Given the description of an element on the screen output the (x, y) to click on. 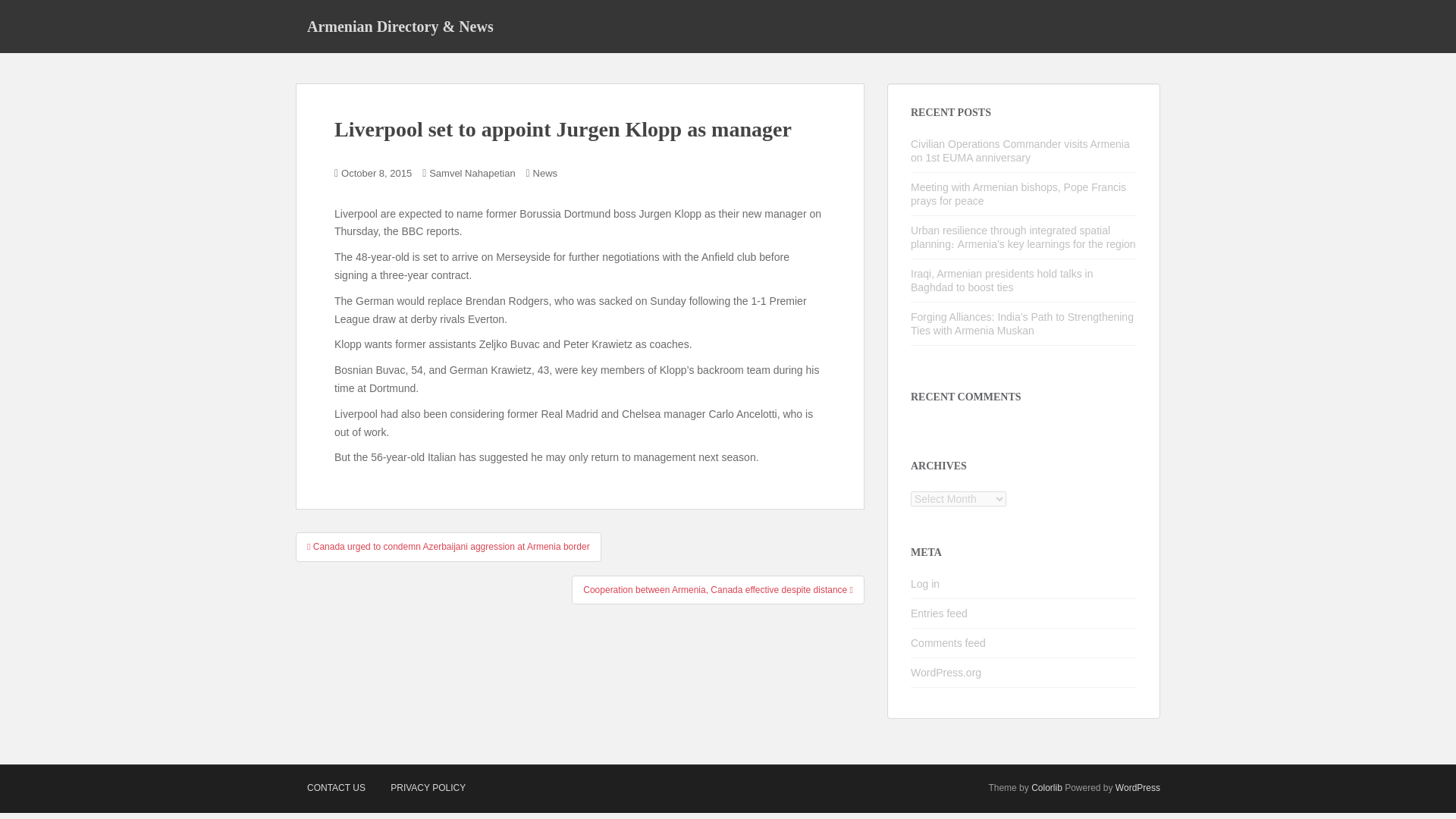
CONTACT US (336, 788)
PRIVACY POLICY (427, 788)
News (544, 173)
Colorlib (1046, 787)
Log in (925, 583)
Comments feed (948, 643)
Entries feed (939, 613)
October 8, 2015 (376, 173)
WordPress.org (946, 672)
Meeting with Armenian bishops, Pope Francis prays for peace (1018, 193)
Samvel Nahapetian (472, 173)
WordPress (1137, 787)
